Given the description of an element on the screen output the (x, y) to click on. 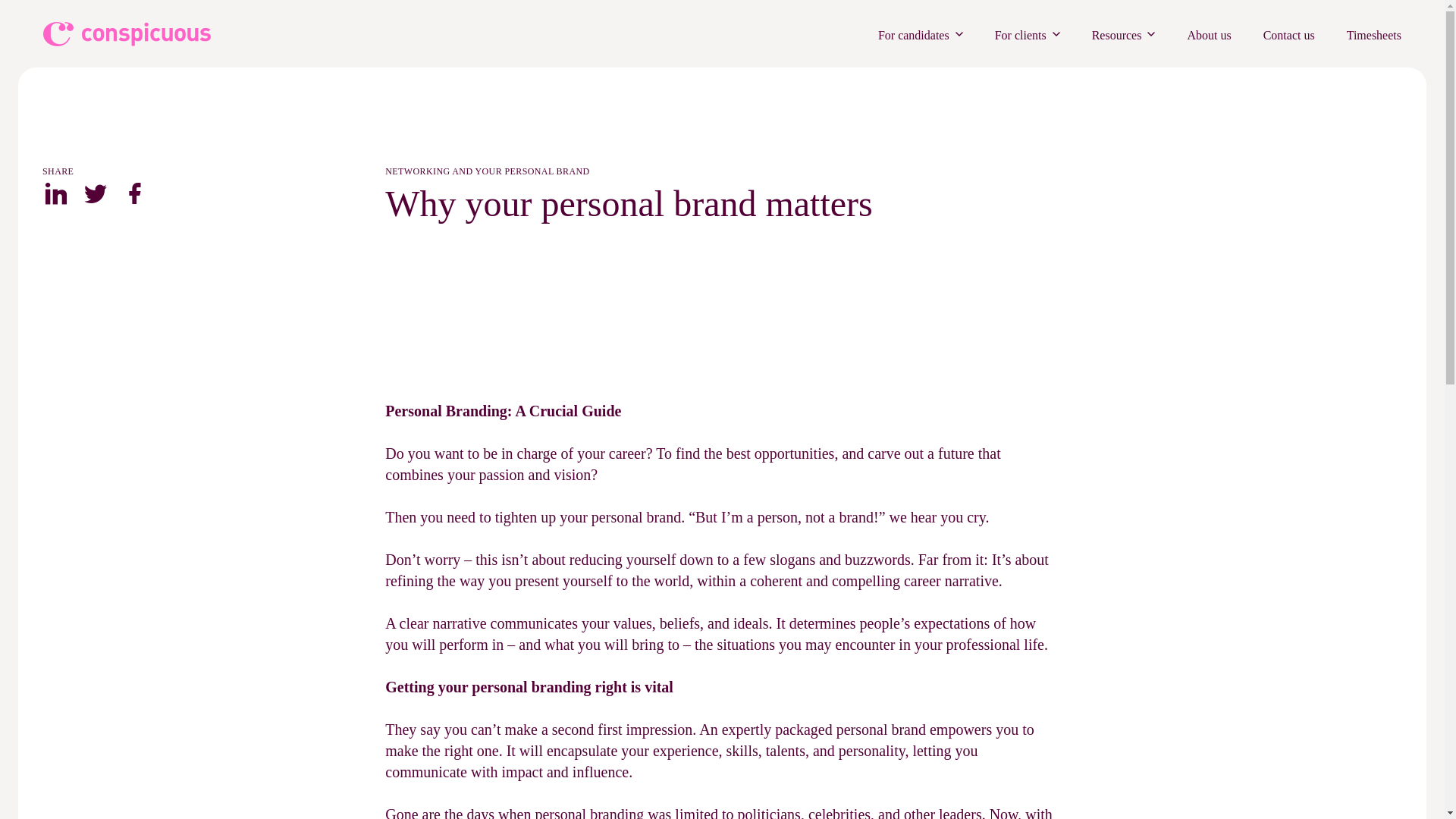
About us (1208, 34)
Timesheets (1373, 34)
Contact us (1288, 34)
Conspicuous (128, 33)
Resources (1124, 34)
For candidates (919, 34)
For clients (1026, 34)
